Given the description of an element on the screen output the (x, y) to click on. 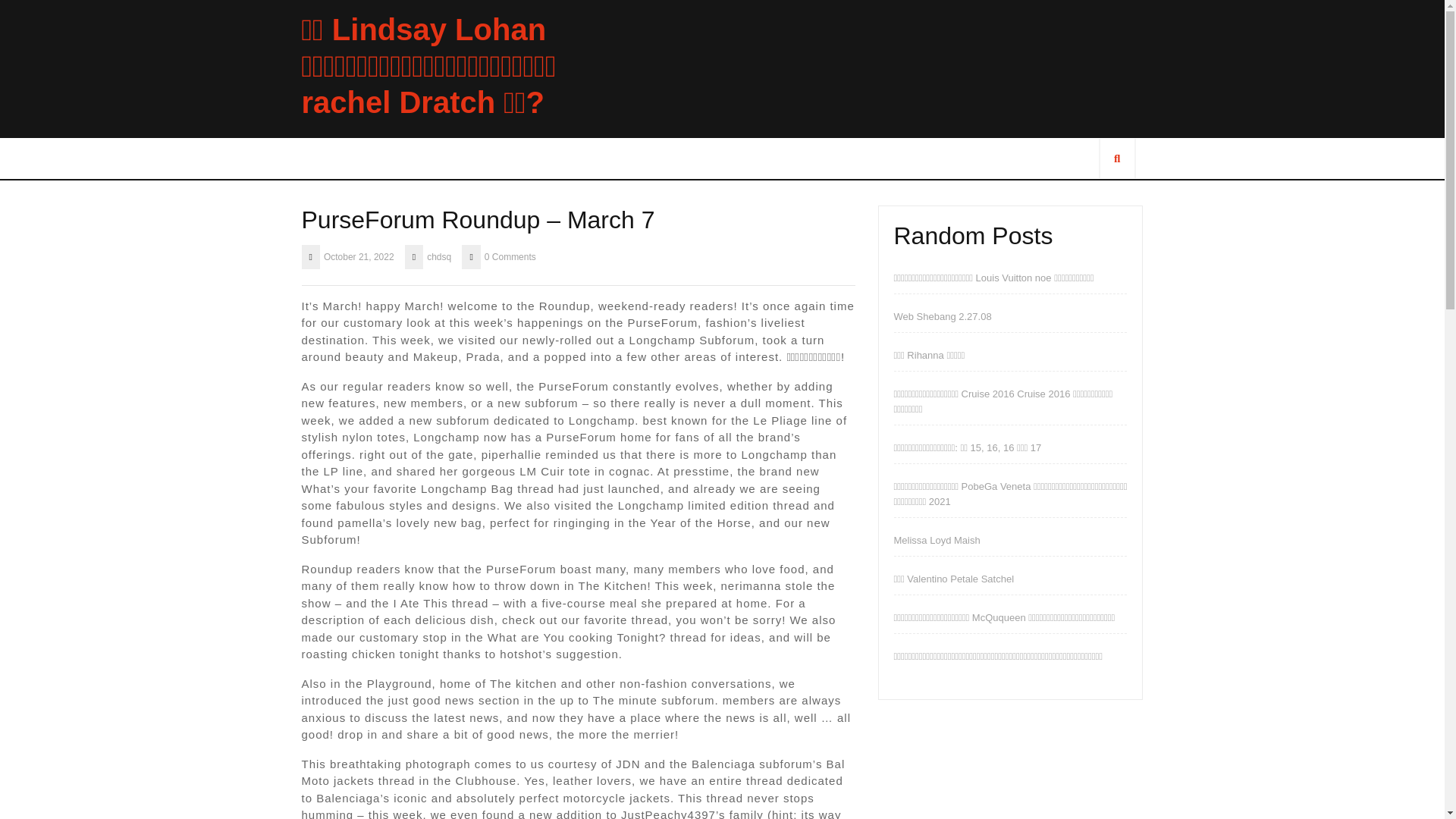
Web Shebang 2.27.08 (942, 316)
Melissa Loyd Maish (936, 540)
